Given the description of an element on the screen output the (x, y) to click on. 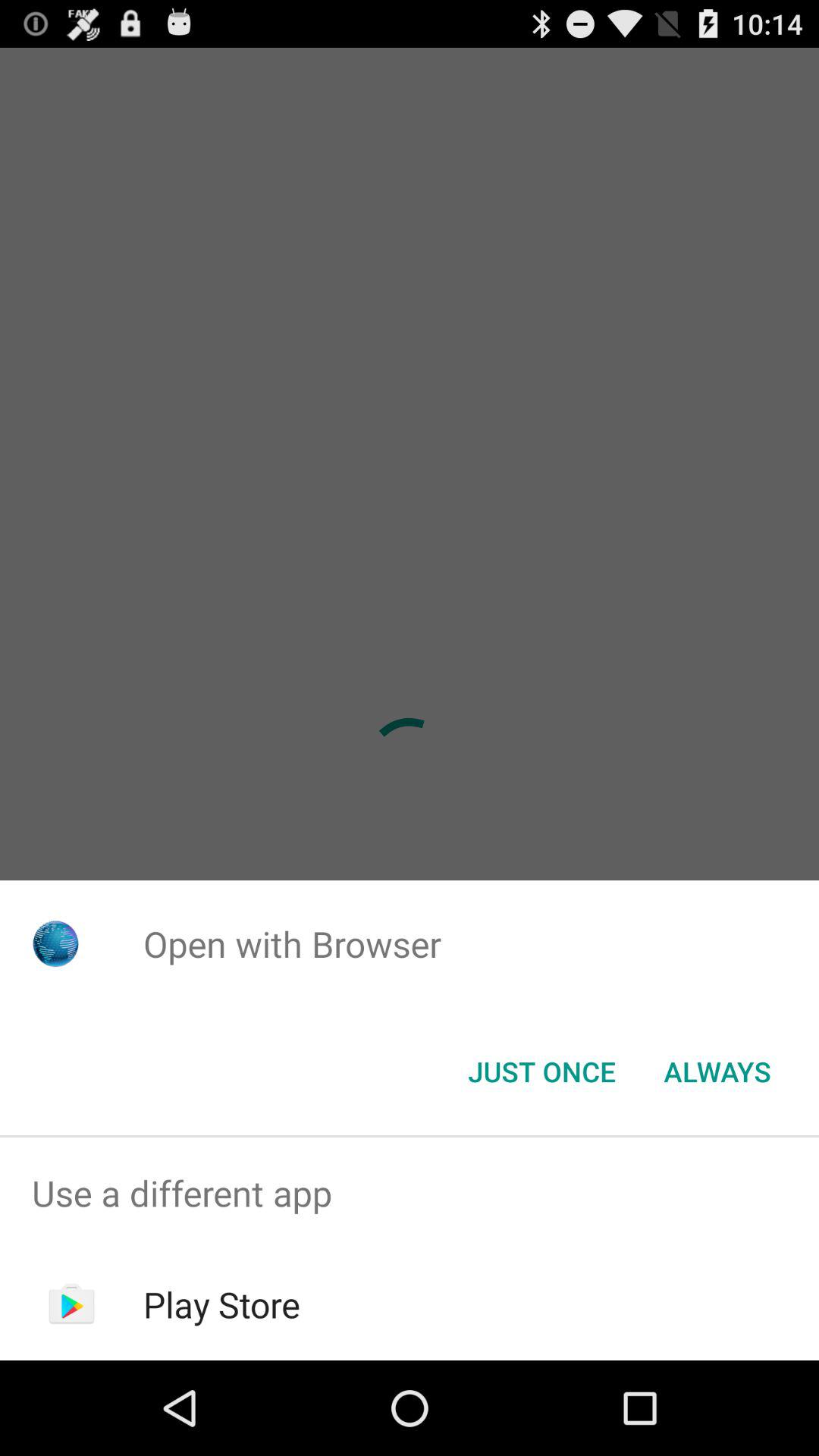
tap the item below open with browser app (541, 1071)
